Given the description of an element on the screen output the (x, y) to click on. 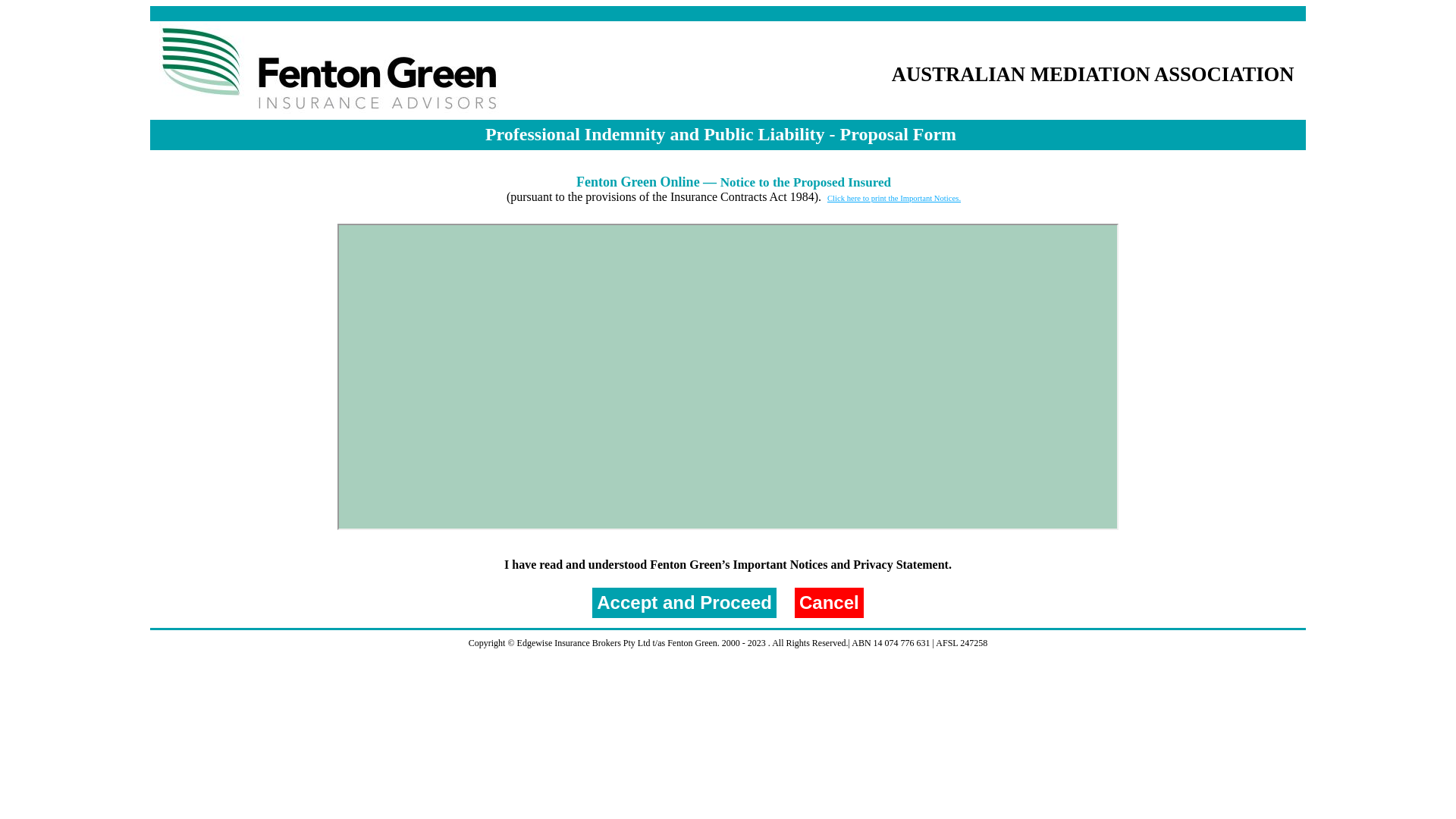
Accept and Proceed Element type: text (684, 602)
Click to cancel Element type: hover (828, 602)
Click here to print the Important Notices. Element type: text (893, 198)
Cancel Element type: text (828, 602)
Click to complete proposal form Element type: hover (684, 602)
